Given the description of an element on the screen output the (x, y) to click on. 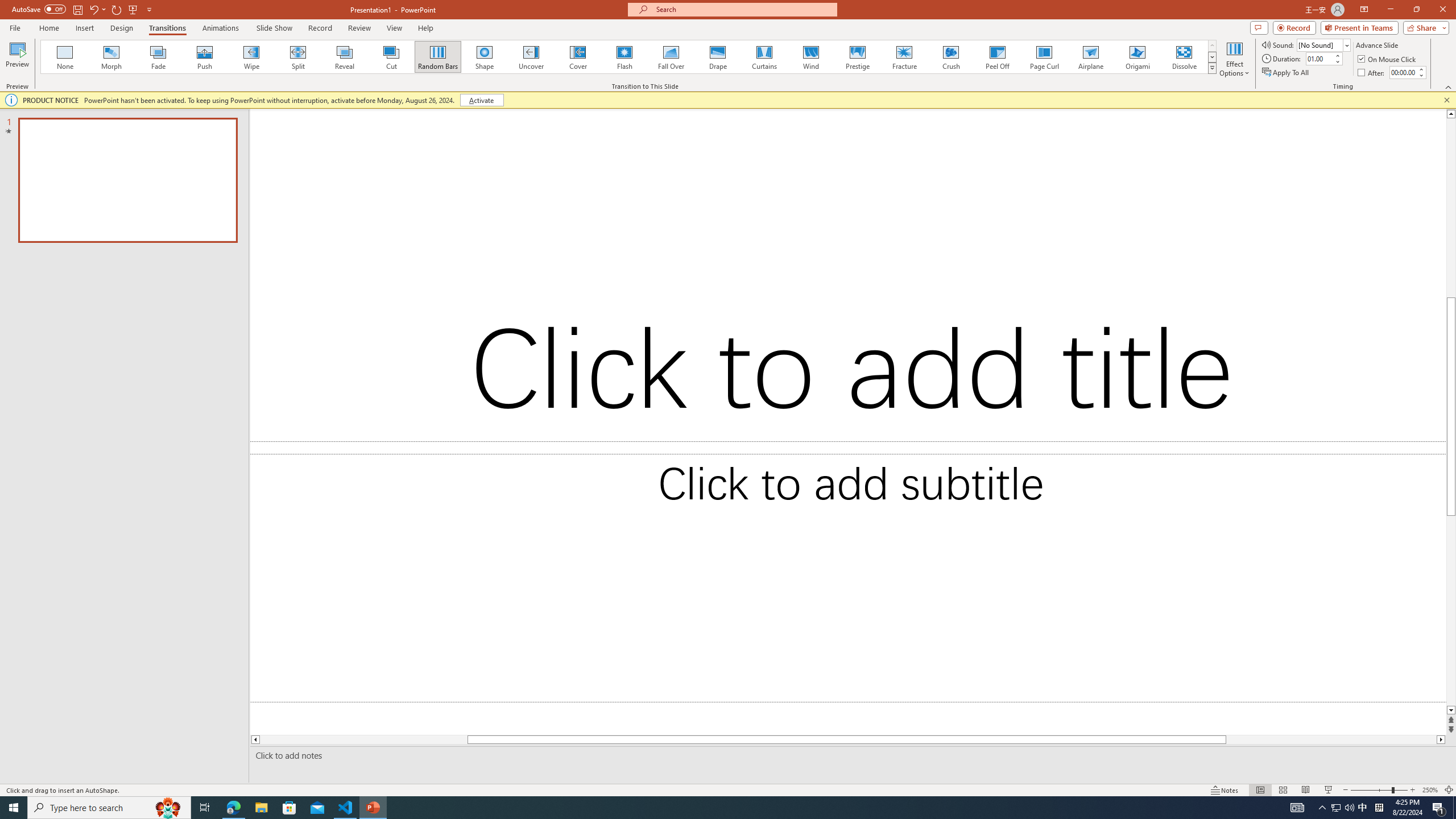
Morph (111, 56)
Fall Over (670, 56)
Push (205, 56)
Dissolve (1183, 56)
Apply To All (1286, 72)
Transition Effects (1212, 67)
Page Curl (1043, 56)
